Given the description of an element on the screen output the (x, y) to click on. 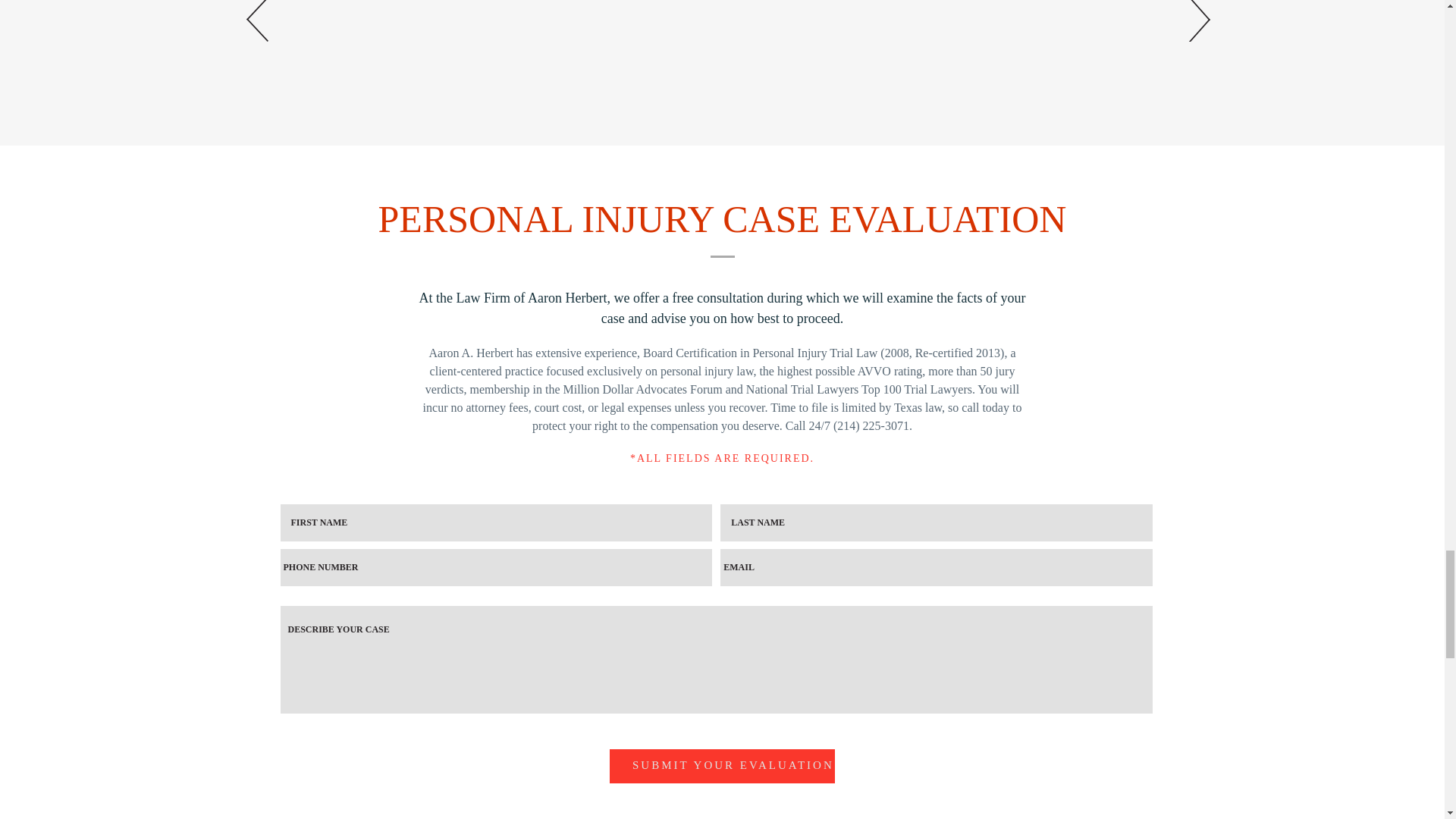
submit your evaluation (722, 765)
